Given the description of an element on the screen output the (x, y) to click on. 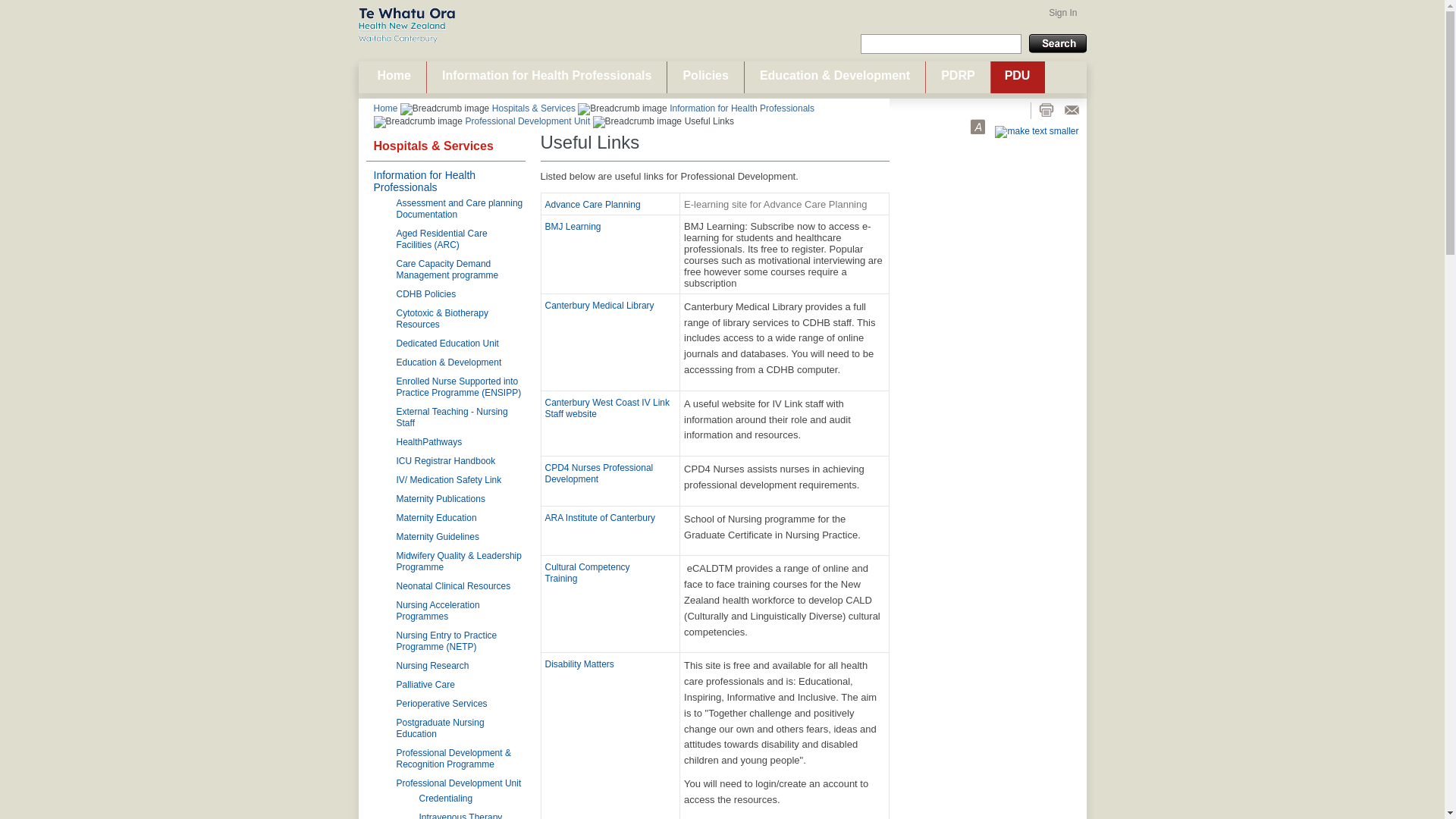
Nursing Acceleration Programmes (437, 610)
Dedicated Education Unit (446, 343)
Neonatal Clinical Resources (453, 585)
Sign In (1061, 12)
CDHB Policies (425, 294)
Maternity Guidelines (437, 536)
Nursing Research (432, 665)
Professional Development Unit (528, 121)
Information for Health Professionals (424, 180)
Information for Health Professionals (546, 77)
